Given the description of an element on the screen output the (x, y) to click on. 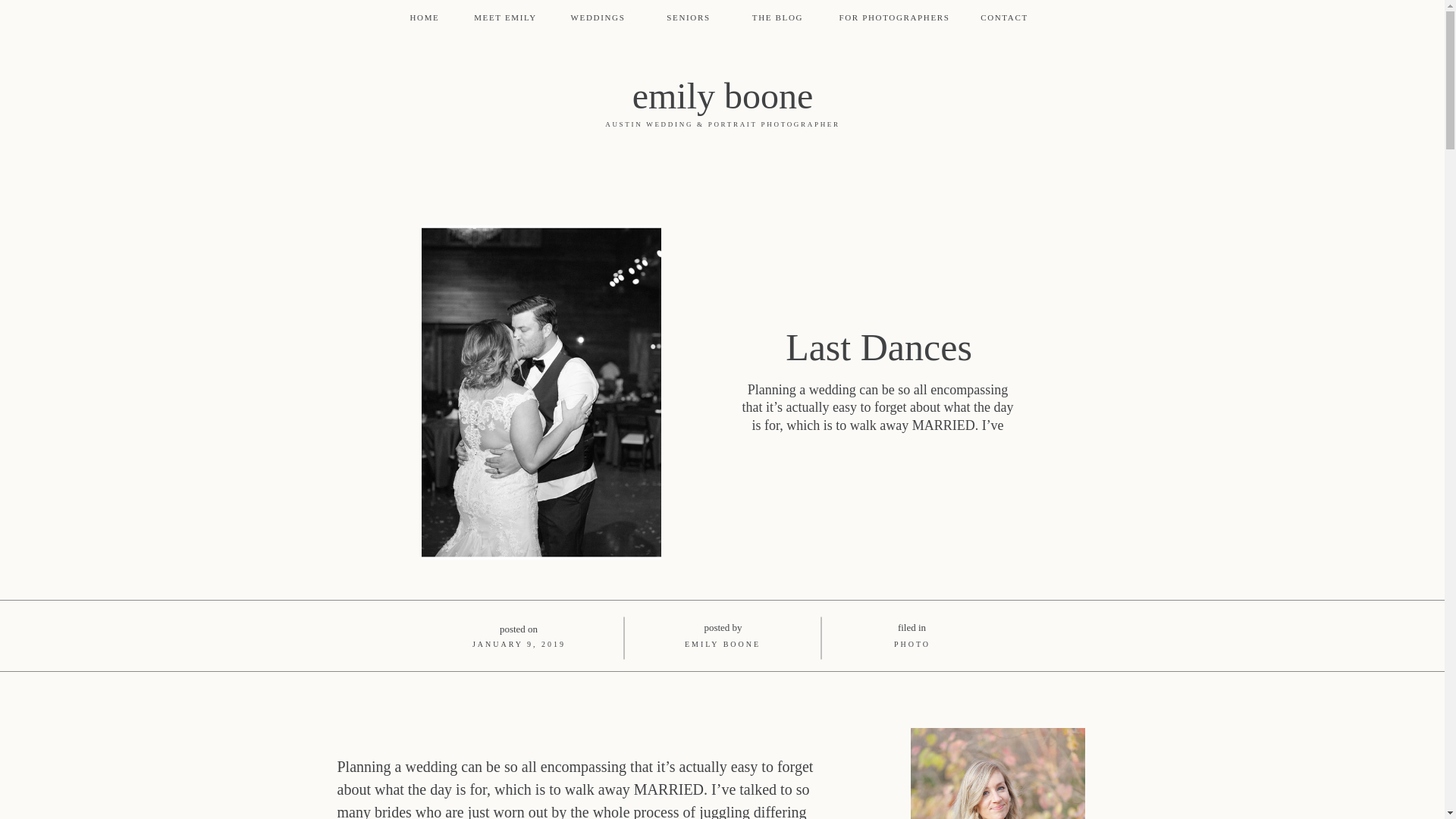
HOME (425, 18)
SENIORS (688, 18)
PHOTO (911, 643)
emily boone (722, 97)
THE BLOG (776, 18)
CONTACT (1005, 18)
MEET EMILY (505, 18)
WEDDINGS (596, 18)
FOR PHOTOGRAPHERS (893, 18)
